Given the description of an element on the screen output the (x, y) to click on. 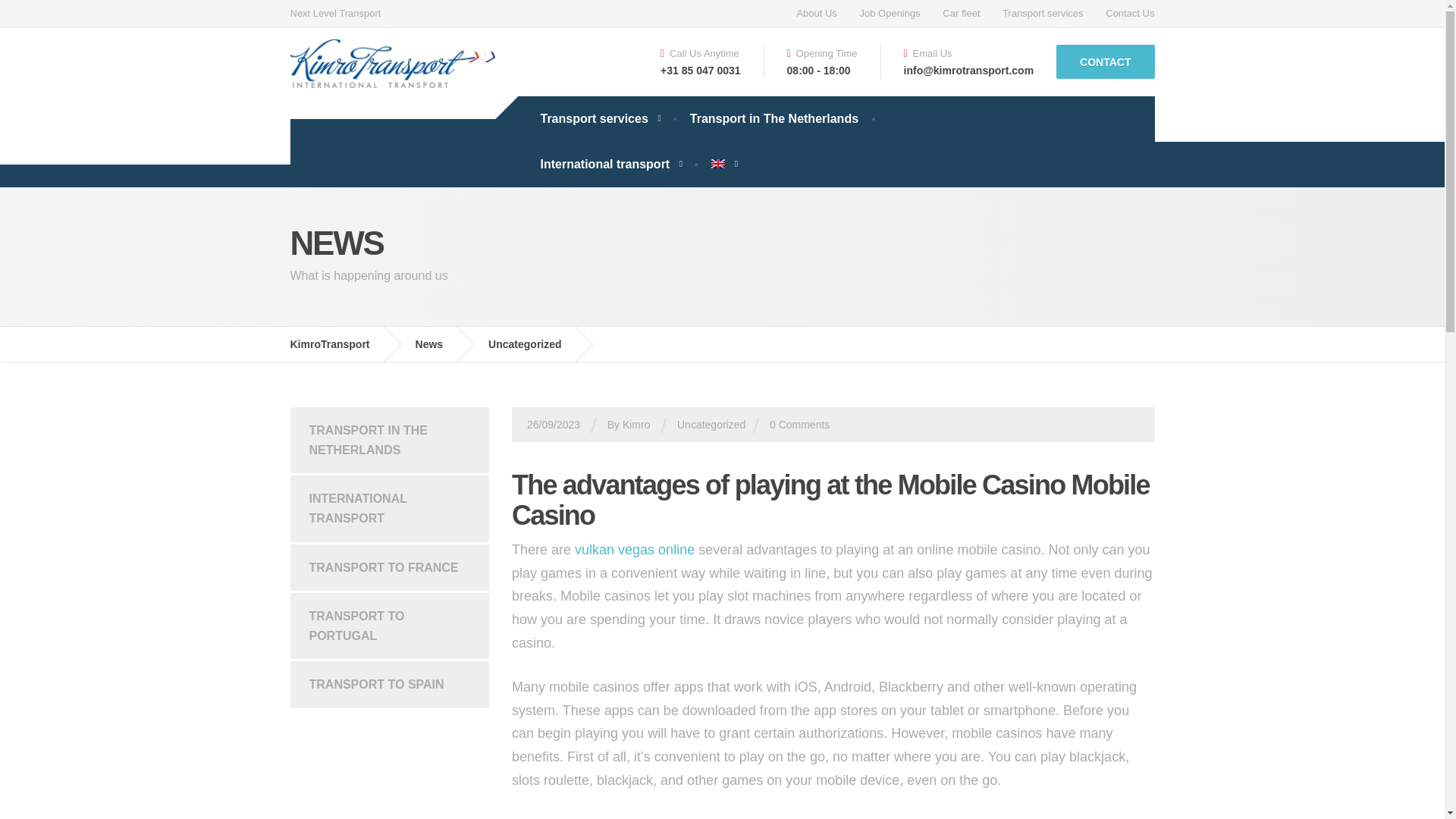
Job Openings (889, 13)
0 Comments (799, 424)
Go to KimroTransport. (340, 343)
Transport services (599, 118)
Uncategorized (535, 343)
INTERNATIONAL TRANSPORT (389, 508)
TRANSPORT TO FRANCE (389, 567)
vulkan vegas online (634, 549)
Transport in The Netherlands (774, 118)
About Us (815, 13)
International transport (609, 164)
News (439, 343)
Uncategorized (711, 424)
Transport services (1042, 13)
Go to the Uncategorized Category archives. (535, 343)
